Given the description of an element on the screen output the (x, y) to click on. 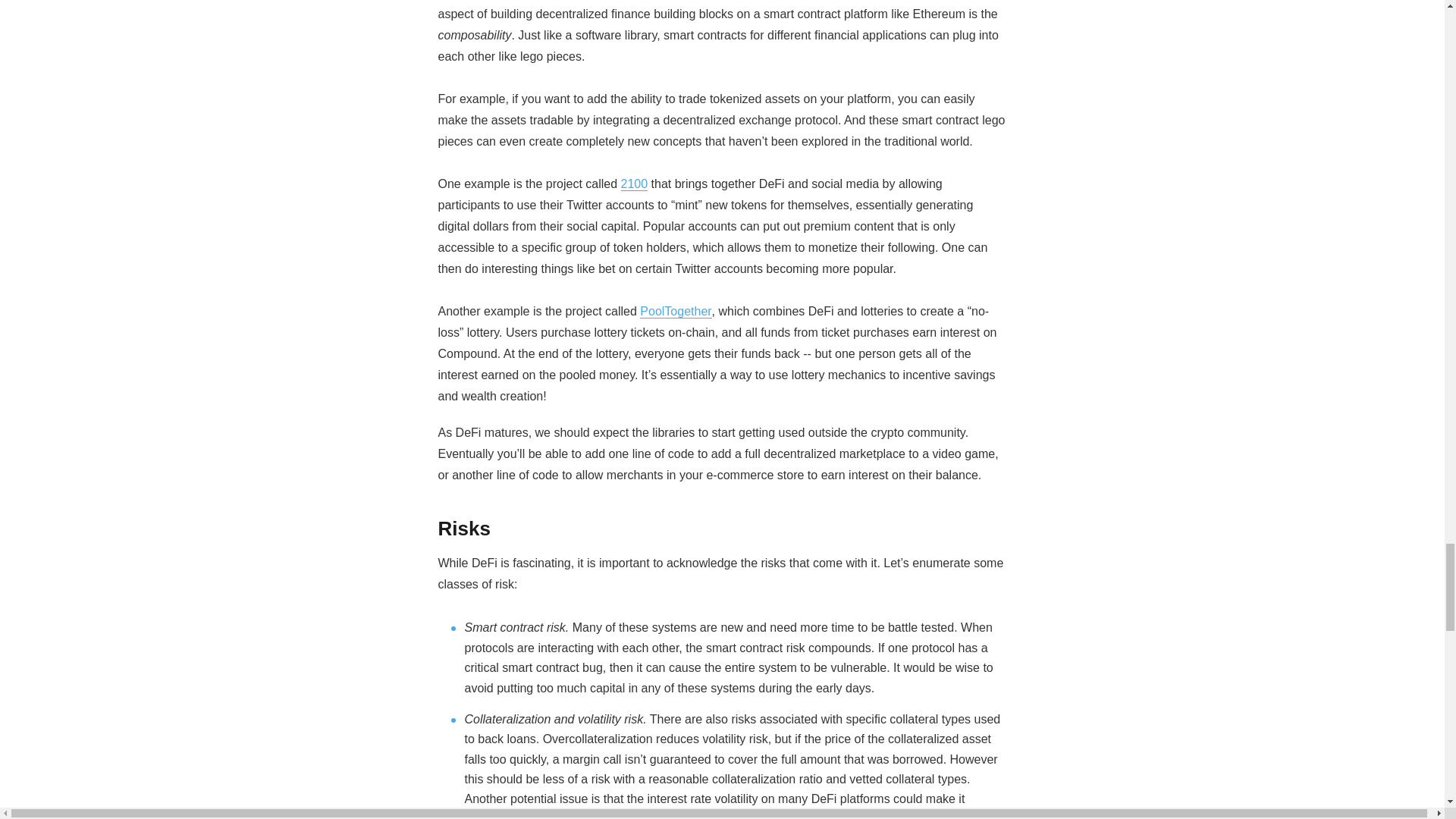
2100 (634, 183)
PoolTogether (675, 310)
